Given the description of an element on the screen output the (x, y) to click on. 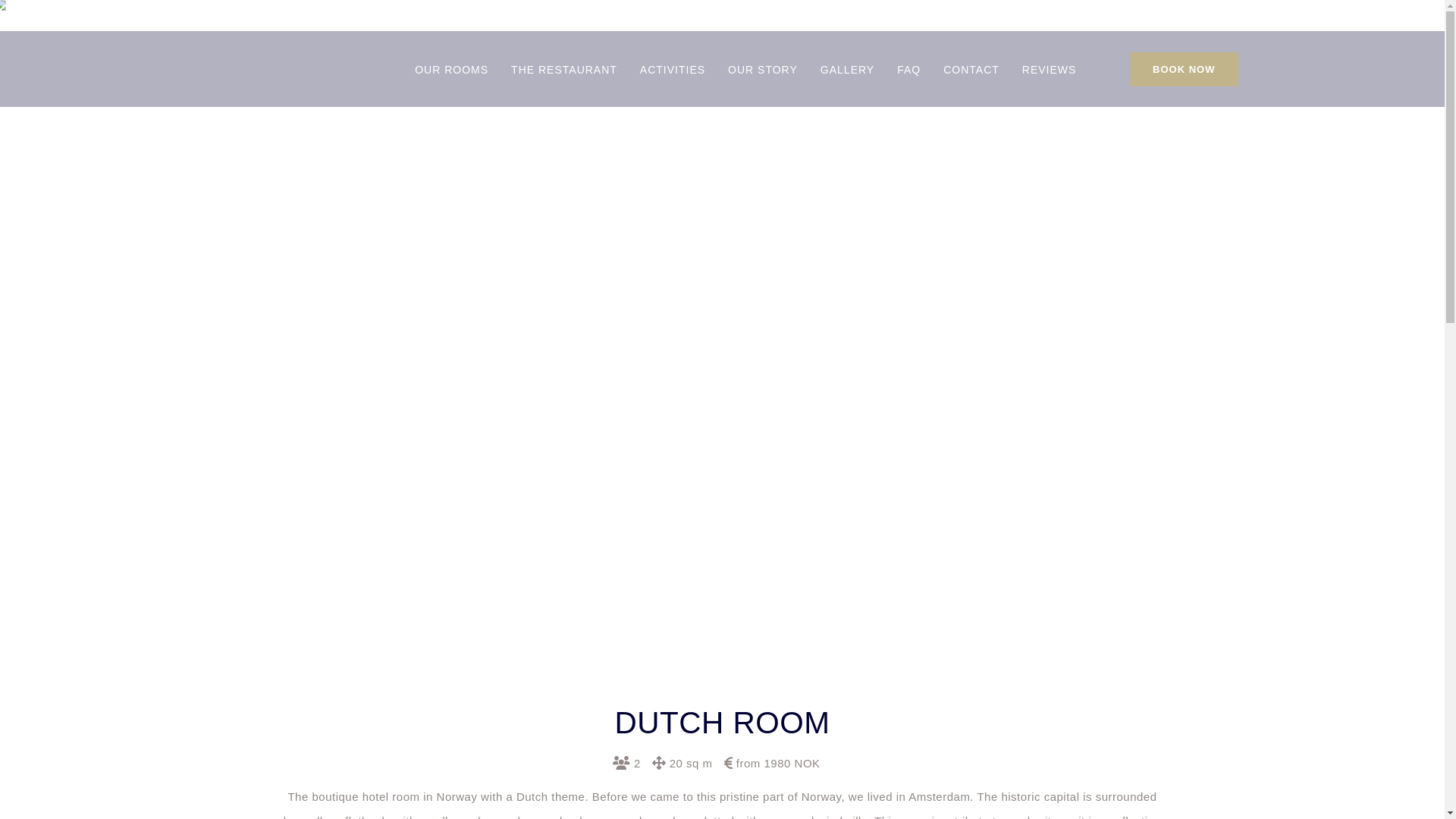
GALLERY (848, 72)
OUR ROOMS (450, 72)
ACTIVITIES (672, 72)
REVIEWS (1049, 72)
BOOK NOW (1183, 68)
CONTACT (970, 72)
THE RESTAURANT (564, 72)
FAQ (908, 72)
OUR STORY (762, 72)
